Given the description of an element on the screen output the (x, y) to click on. 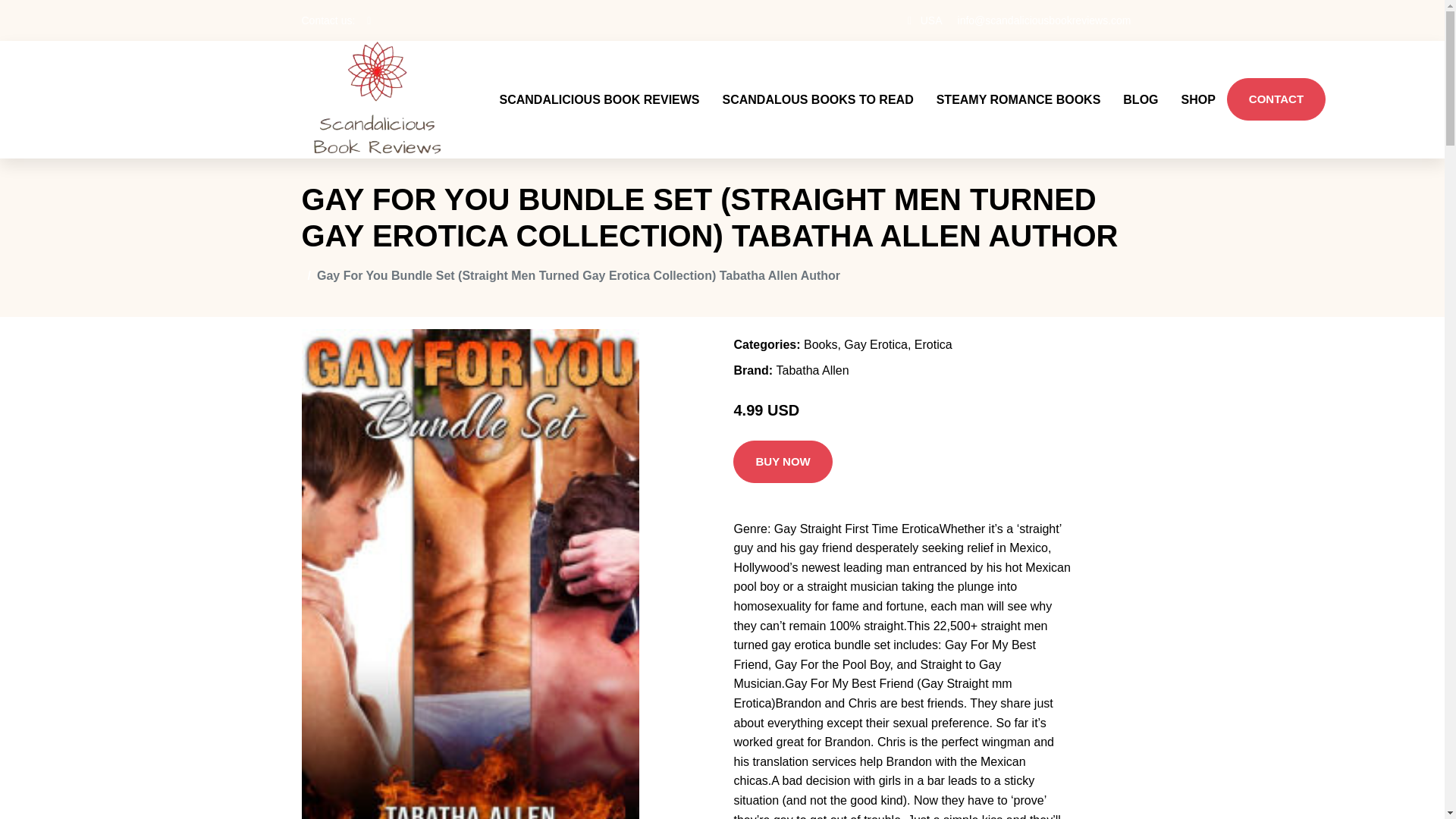
Books (820, 344)
Erotica (933, 344)
STEAMY ROMANCE BOOKS (1018, 99)
BLOG (1140, 99)
CONTACT (1275, 98)
SCANDALOUS BOOKS TO READ (817, 99)
USA (931, 20)
BUY NOW (782, 461)
Gay Erotica (875, 344)
SCANDALICIOUS BOOK REVIEWS (599, 99)
SHOP (1198, 99)
